Given the description of an element on the screen output the (x, y) to click on. 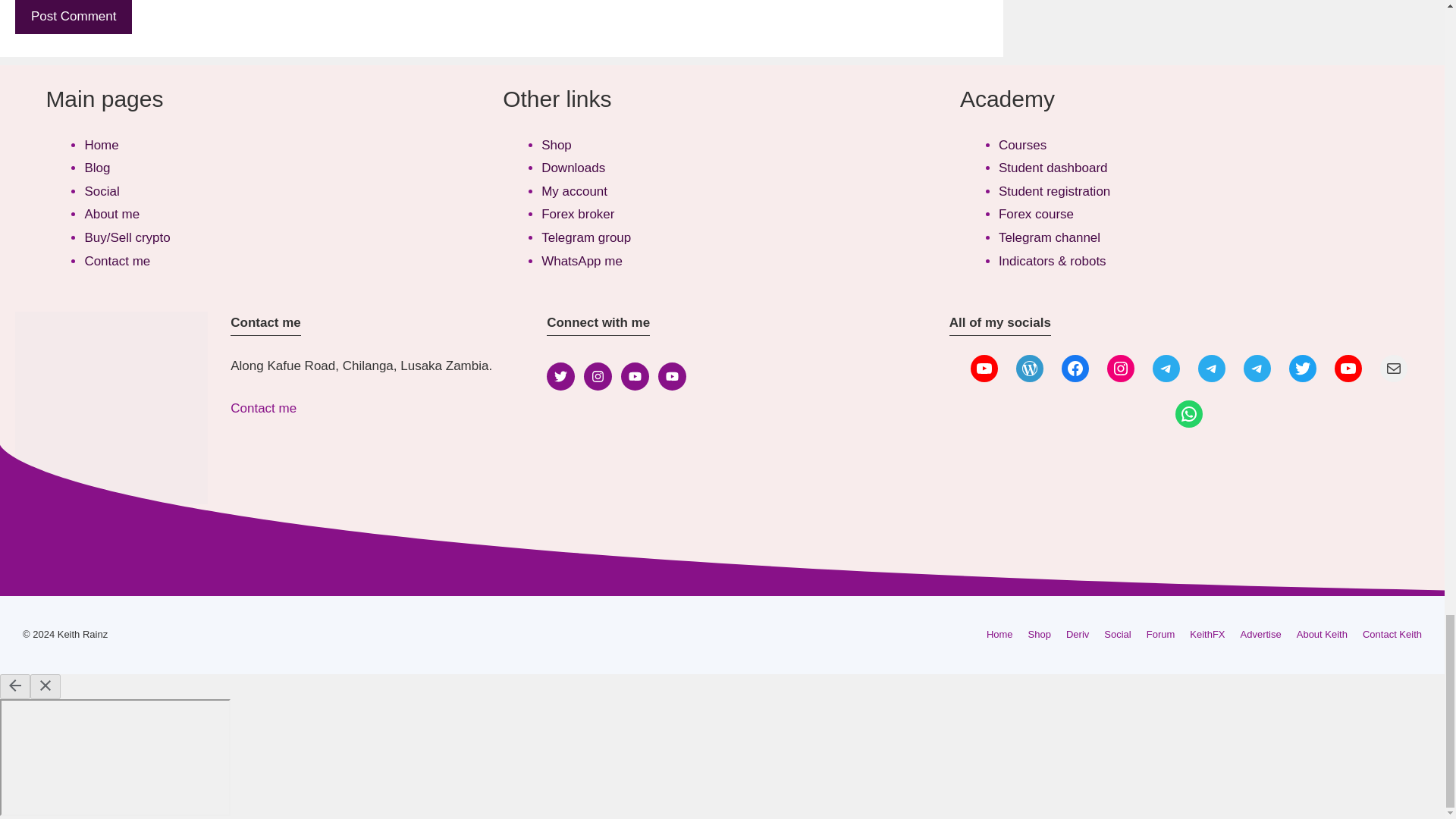
Post Comment (73, 17)
